Given the description of an element on the screen output the (x, y) to click on. 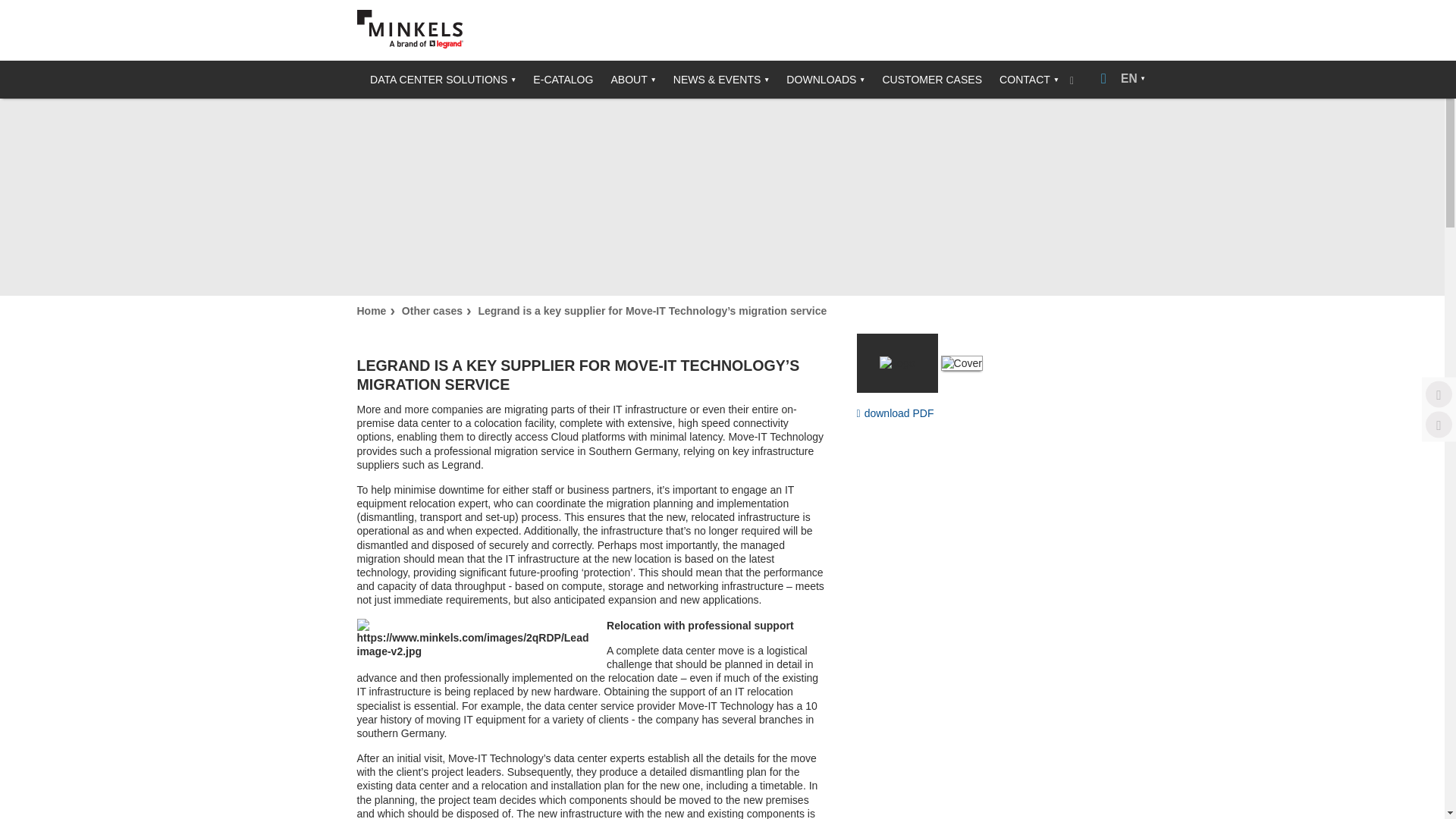
DOWNLOADS (818, 79)
Go to minkels.com (409, 28)
DATA CENTER SOLUTIONS (436, 79)
E-CATALOG (556, 79)
ABOUT (626, 79)
